Given the description of an element on the screen output the (x, y) to click on. 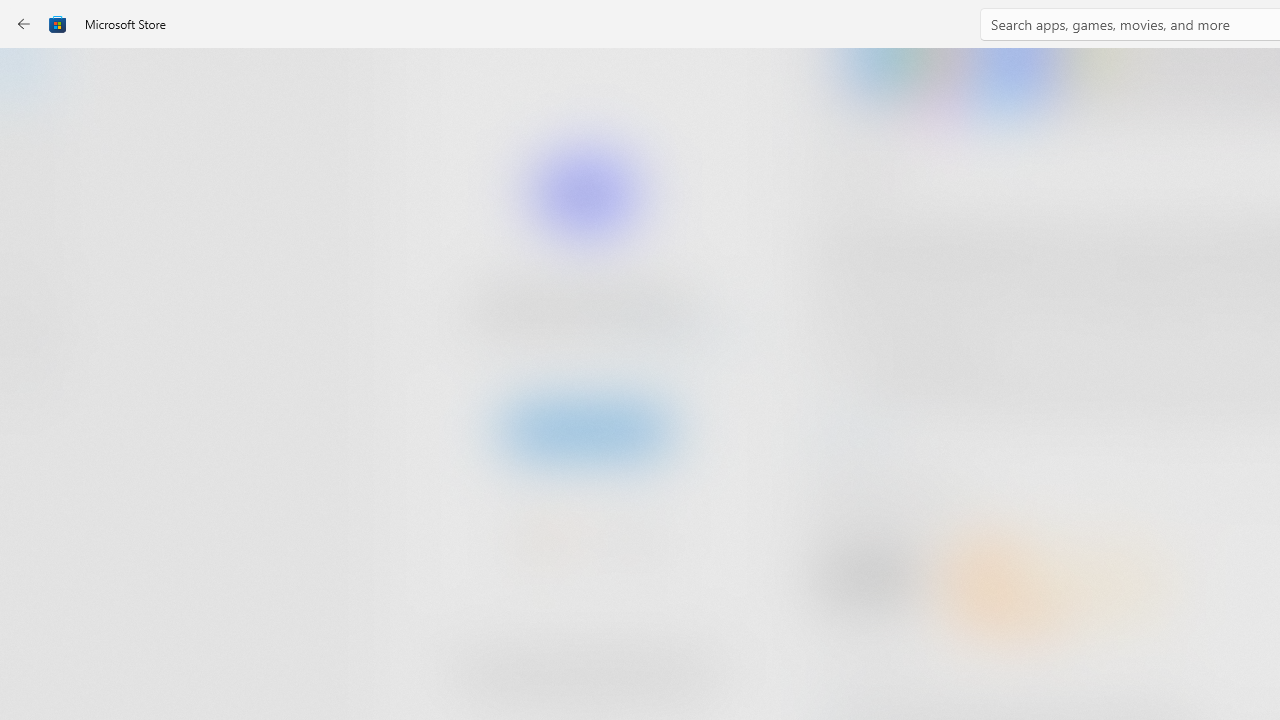
Class: Image (58, 24)
Microsoft Corporation (673, 333)
Show more (854, 428)
Install (586, 428)
Sign in to review (882, 667)
Entertainment (35, 327)
Gaming (35, 203)
Apps (35, 141)
2.6 stars. Click to skip to ratings and reviews (542, 543)
AI Hub (35, 390)
Home (35, 79)
Back (24, 24)
Arcade (35, 265)
